Given the description of an element on the screen output the (x, y) to click on. 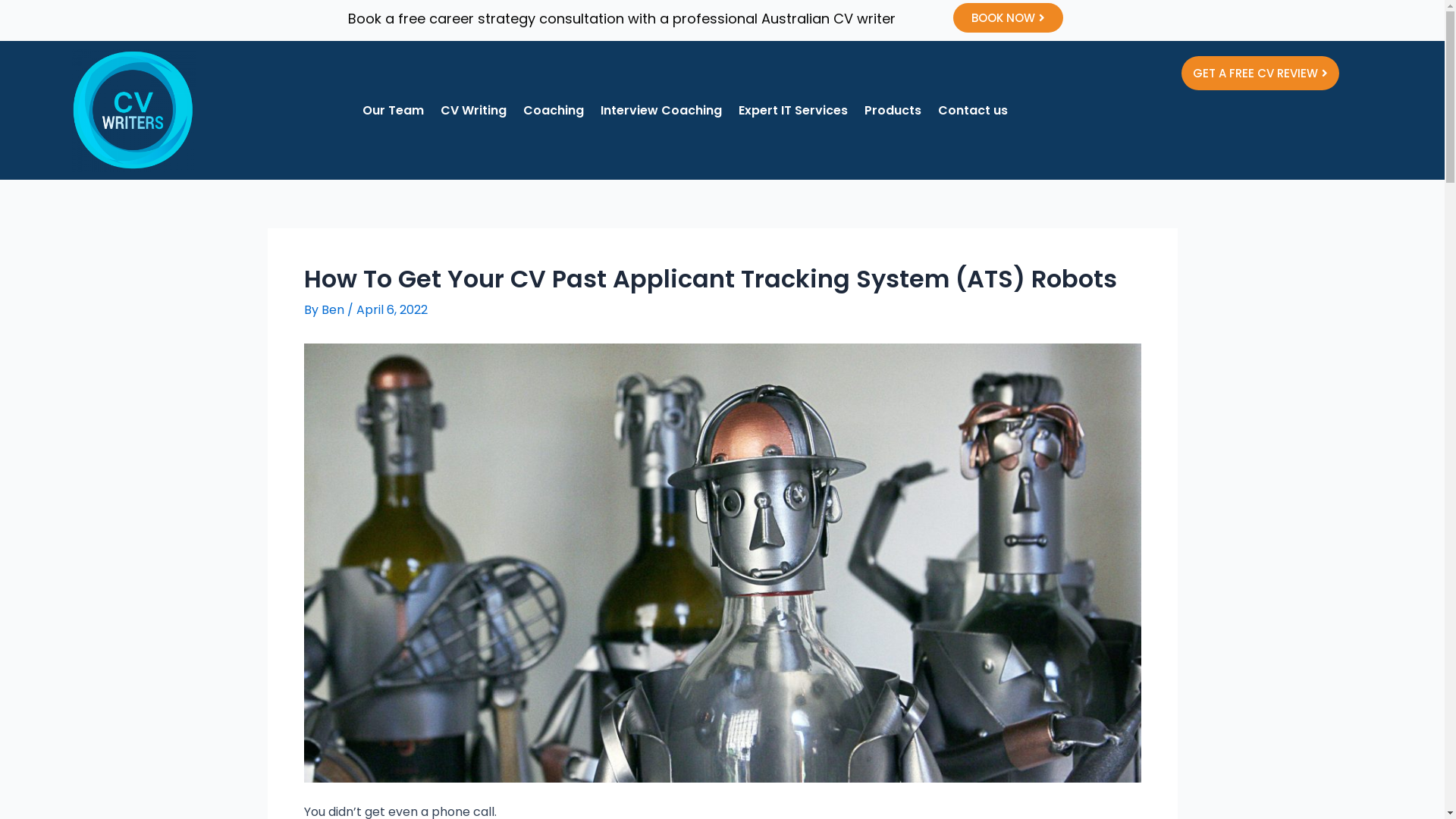
Products Element type: text (892, 110)
BOOK NOW Element type: text (1008, 17)
Contact us Element type: text (972, 110)
CV Writing Element type: text (473, 110)
Coaching Element type: text (553, 110)
GET A FREE CV REVIEW Element type: text (1260, 73)
Our Team Element type: text (393, 110)
Interview Coaching Element type: text (661, 110)
Ben Element type: text (334, 309)
Expert IT Services Element type: text (793, 110)
